Given the description of an element on the screen output the (x, y) to click on. 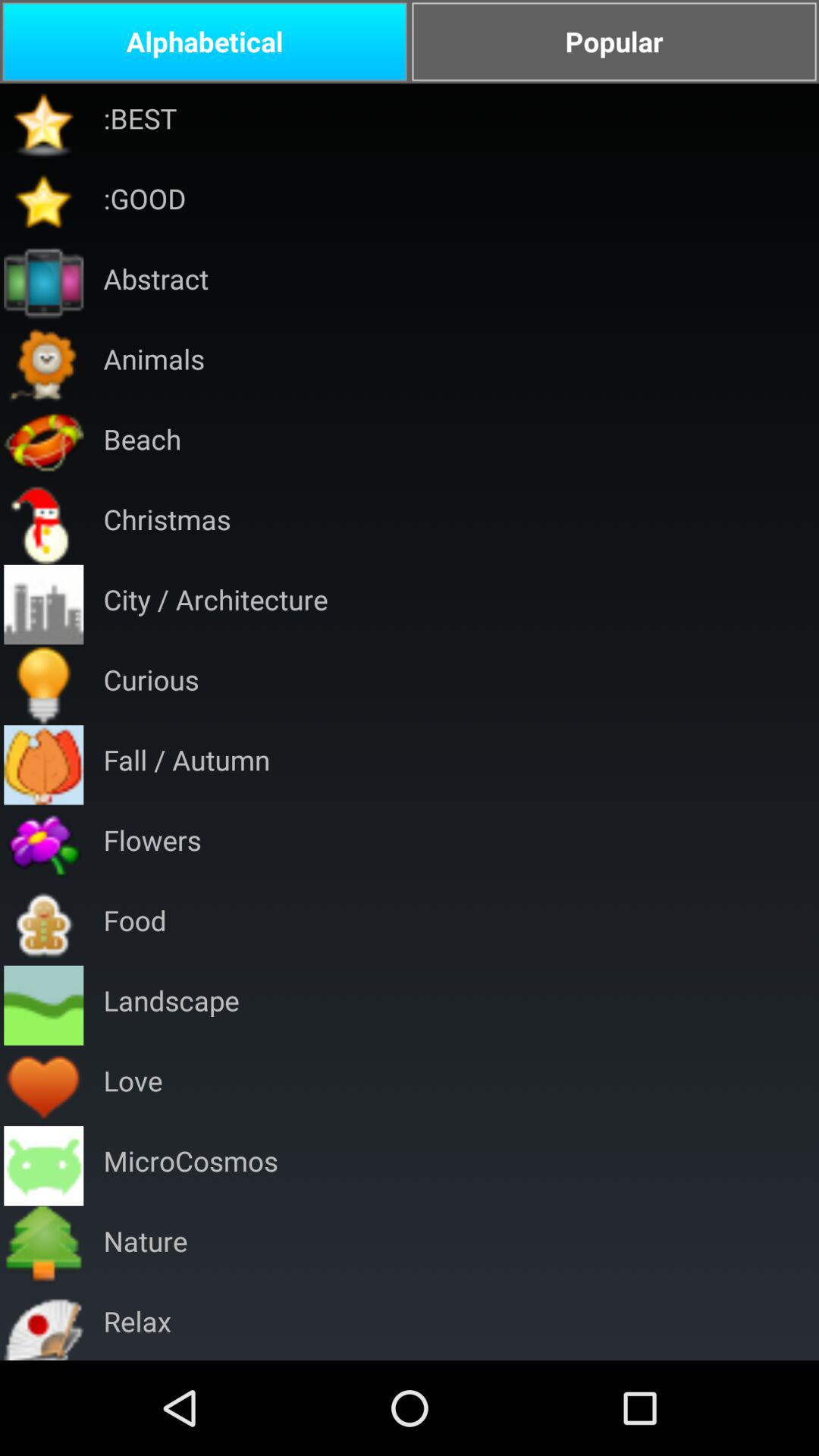
turn on abstract app (155, 283)
